Given the description of an element on the screen output the (x, y) to click on. 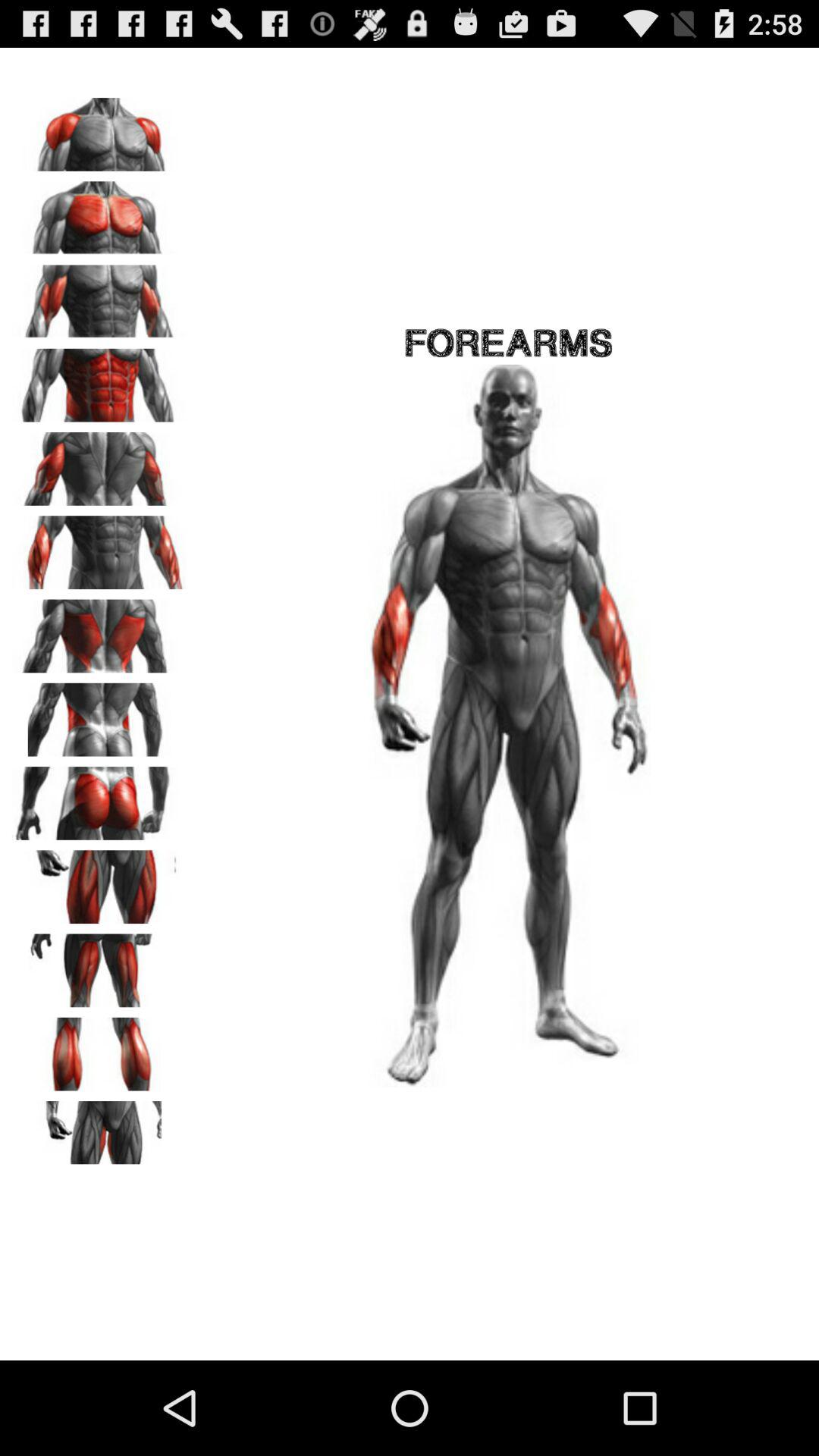
tap to chose picture (99, 881)
